Given the description of an element on the screen output the (x, y) to click on. 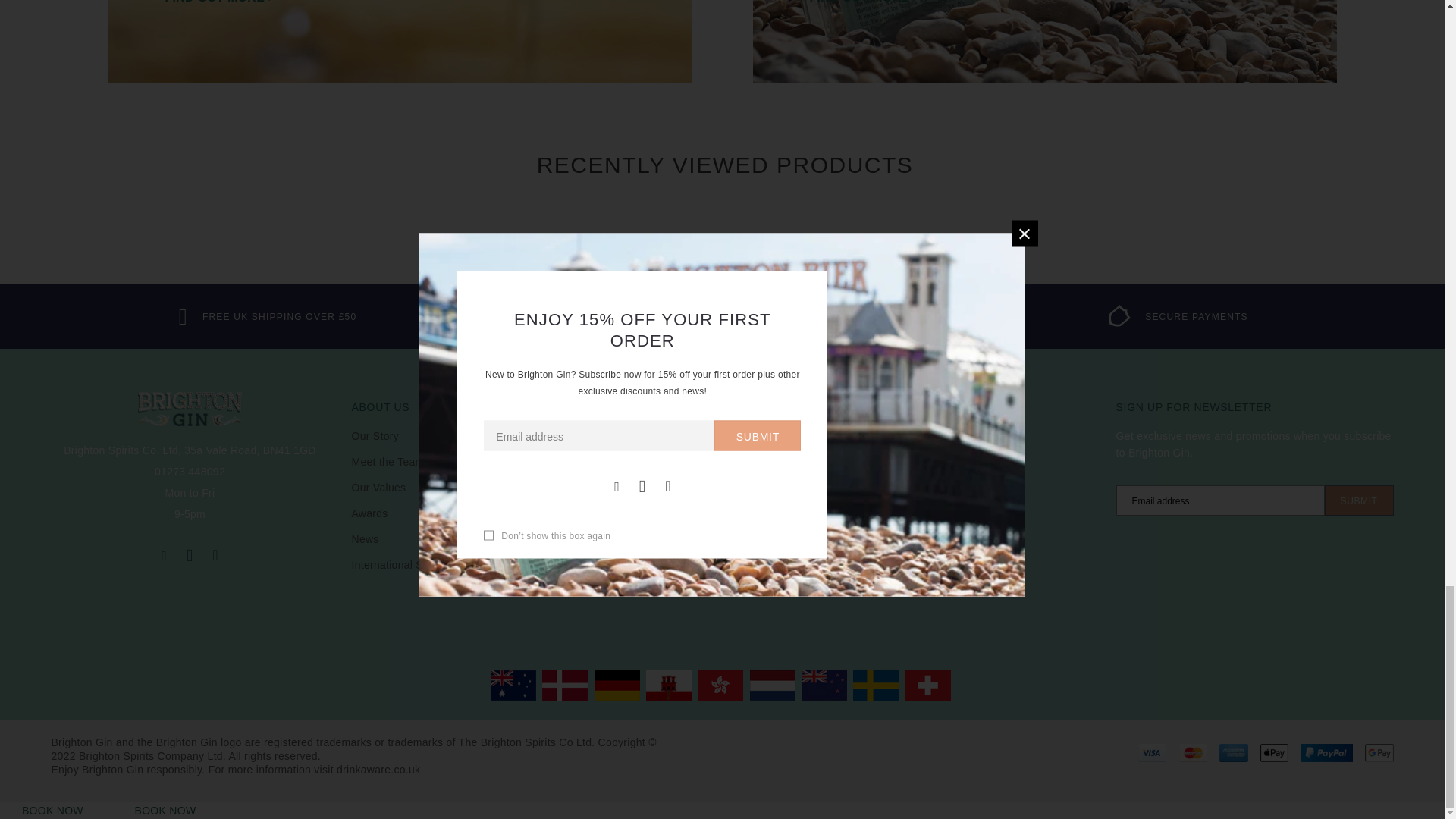
Submit (1358, 500)
